Given the description of an element on the screen output the (x, y) to click on. 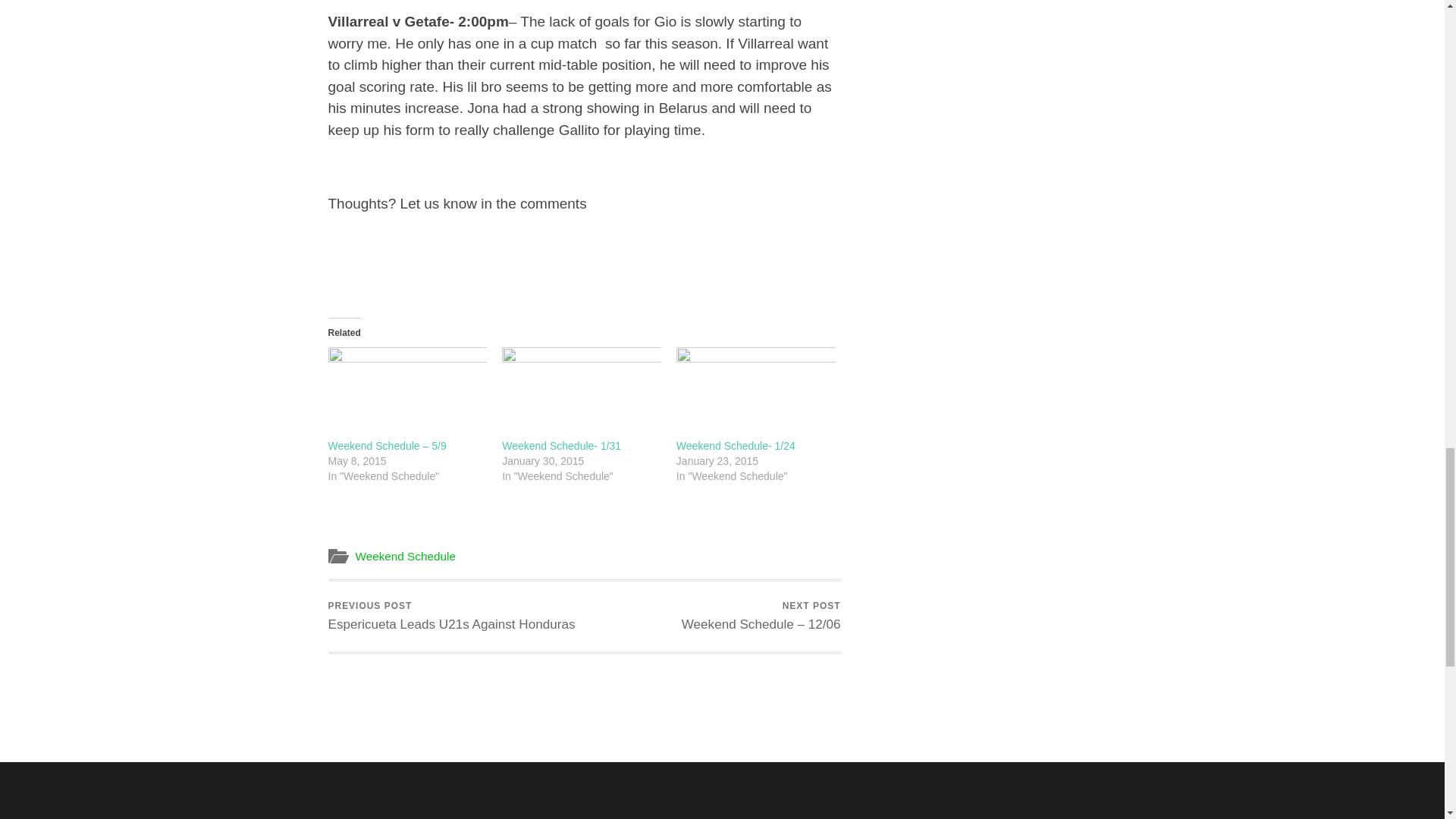
Weekend Schedule (451, 615)
